Given the description of an element on the screen output the (x, y) to click on. 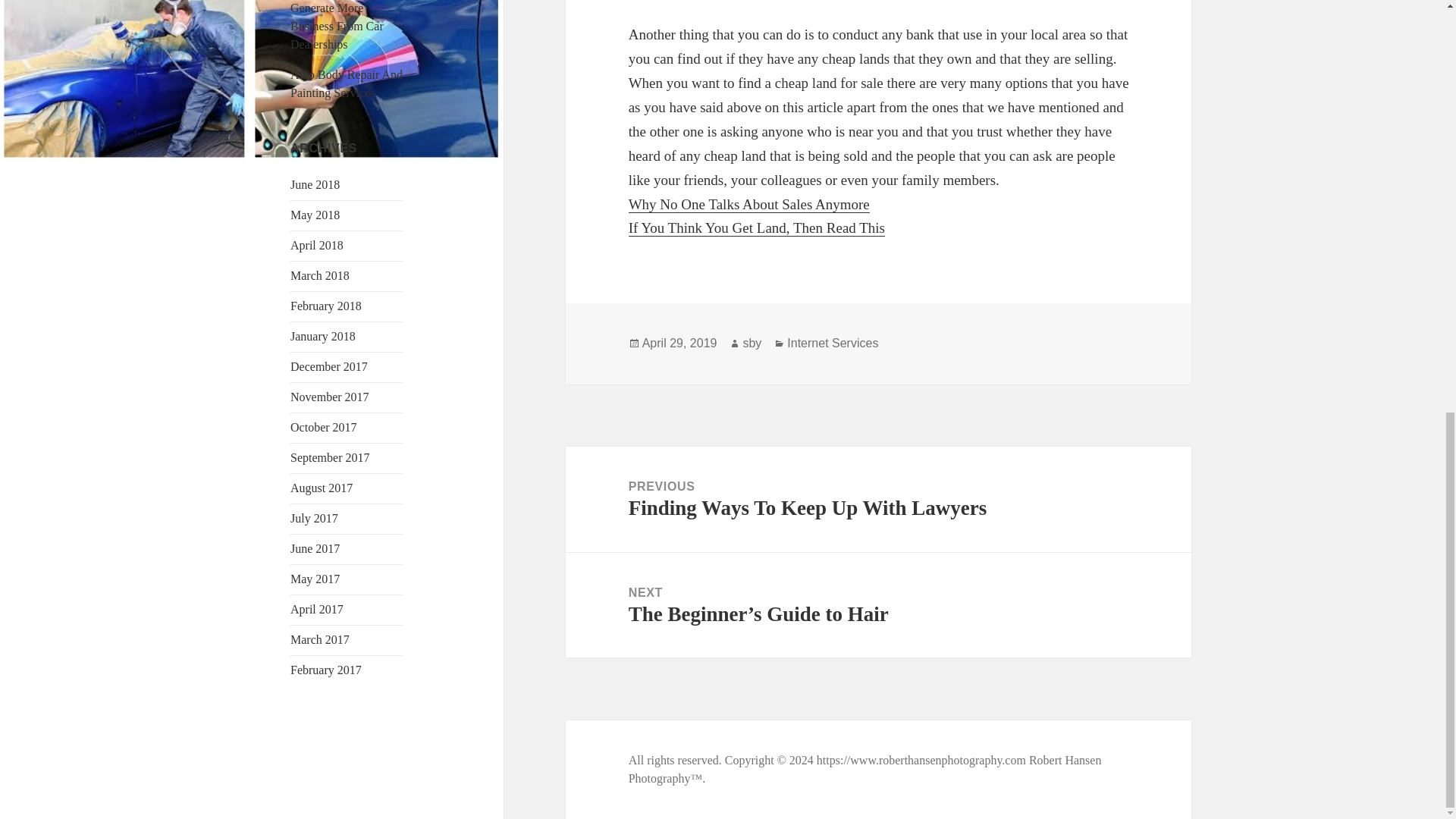
October 2017 (322, 427)
June 2018 (314, 184)
June 2017 (314, 548)
August 2017 (878, 499)
If You Think You Get Land, Then Read This (320, 487)
November 2017 (756, 228)
July 2017 (329, 396)
April 2018 (313, 517)
Robert Hansen Photography (316, 245)
April 2017 (865, 769)
March 2017 (316, 608)
Internet Services (319, 639)
December 2017 (832, 343)
February 2018 (328, 366)
